Given the description of an element on the screen output the (x, y) to click on. 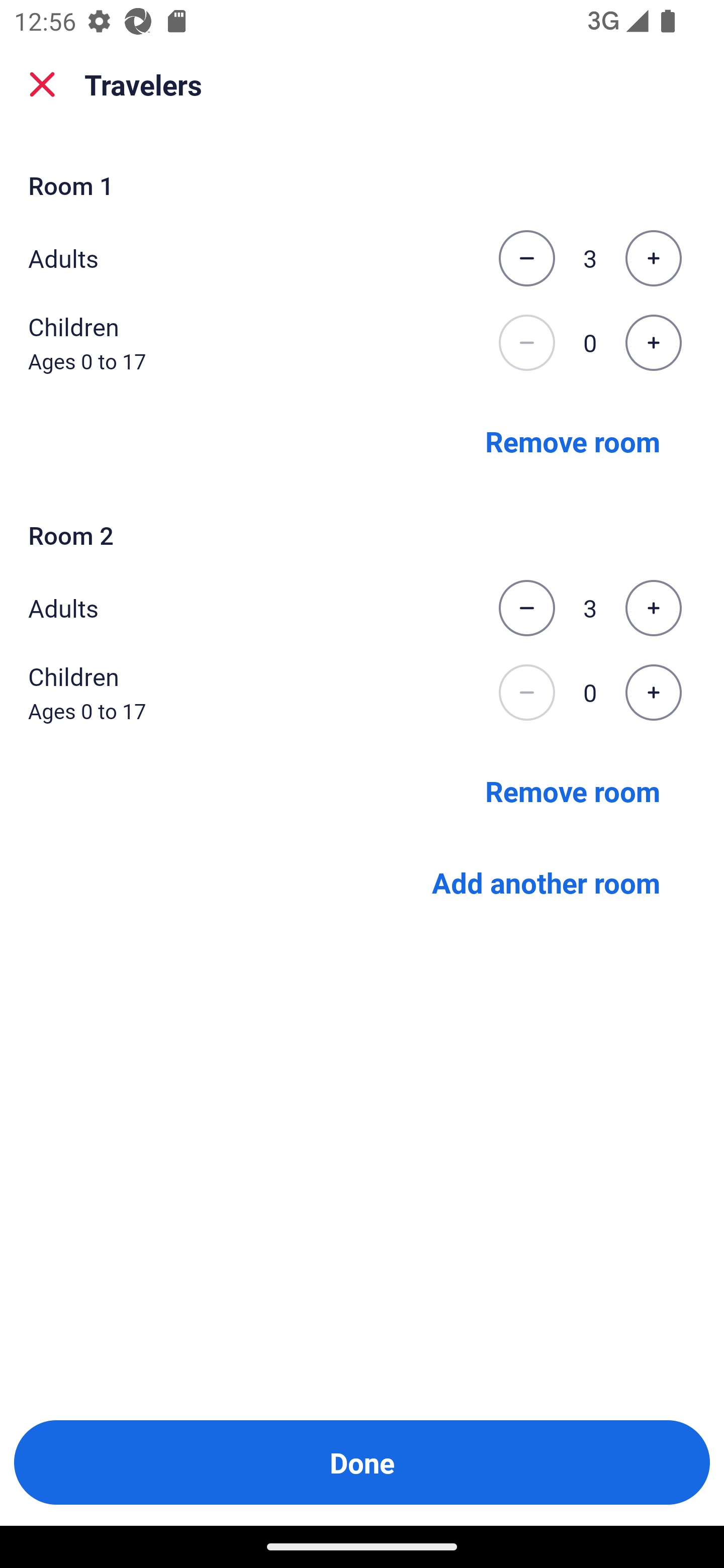
close (42, 84)
Decrease the number of adults (526, 258)
Increase the number of adults (653, 258)
Decrease the number of children (526, 343)
Increase the number of children (653, 343)
Remove room (572, 440)
Decrease the number of adults (526, 608)
Increase the number of adults (653, 608)
Decrease the number of children (526, 692)
Increase the number of children (653, 692)
Remove room (572, 790)
Add another room (545, 882)
Done (361, 1462)
